Given the description of an element on the screen output the (x, y) to click on. 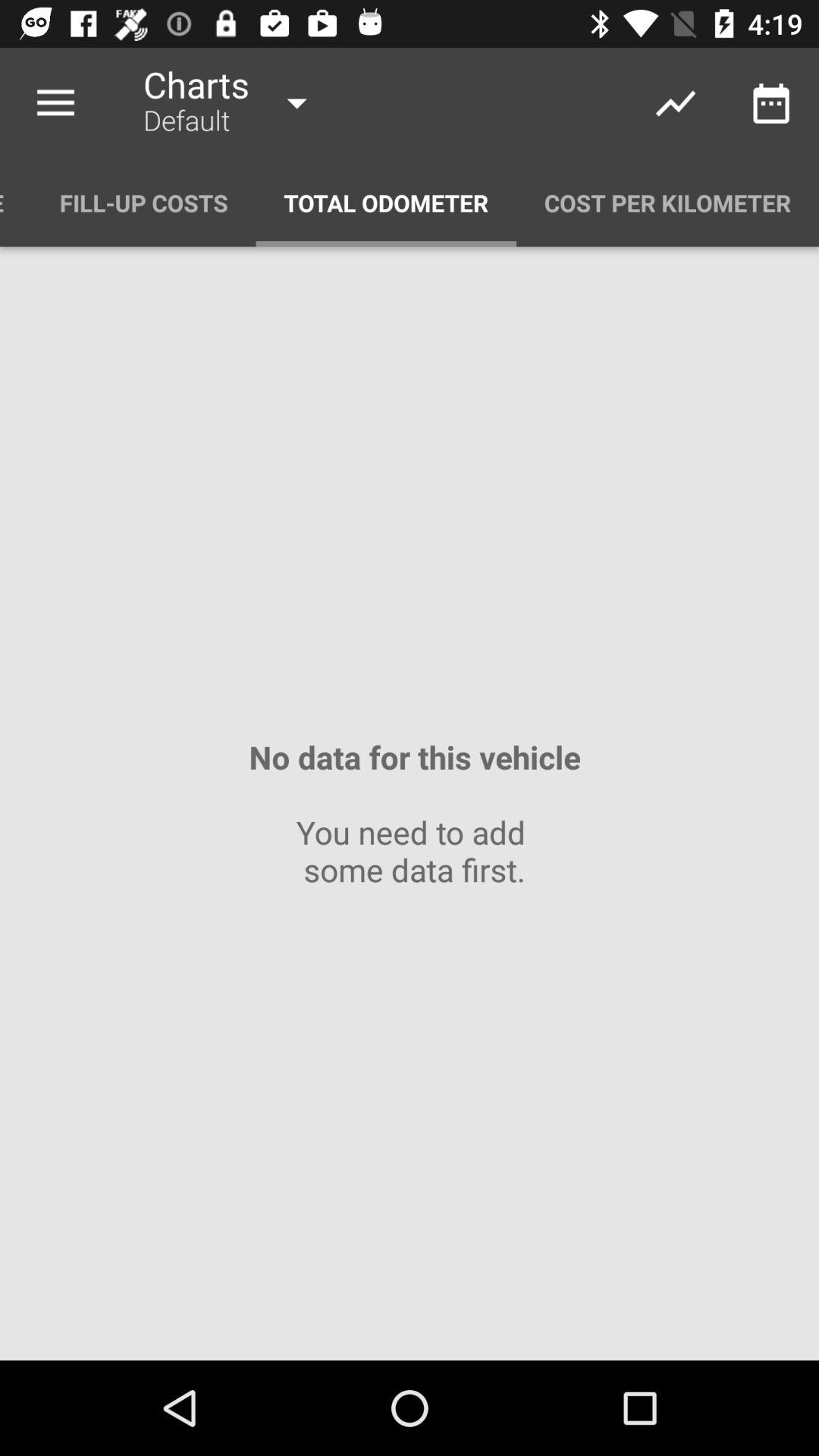
turn off item above no data for (143, 202)
